Given the description of an element on the screen output the (x, y) to click on. 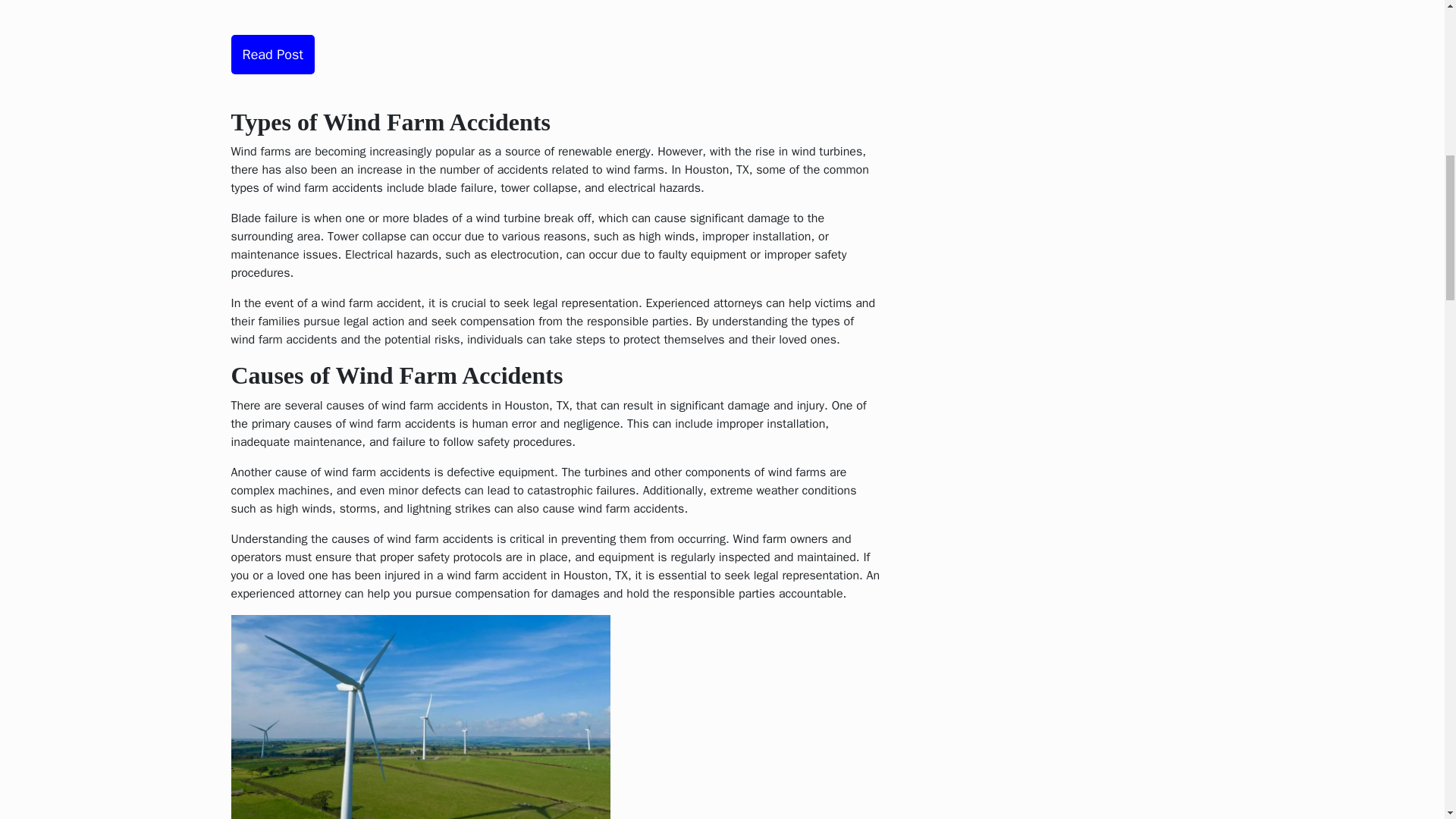
Read Post (272, 54)
